Given the description of an element on the screen output the (x, y) to click on. 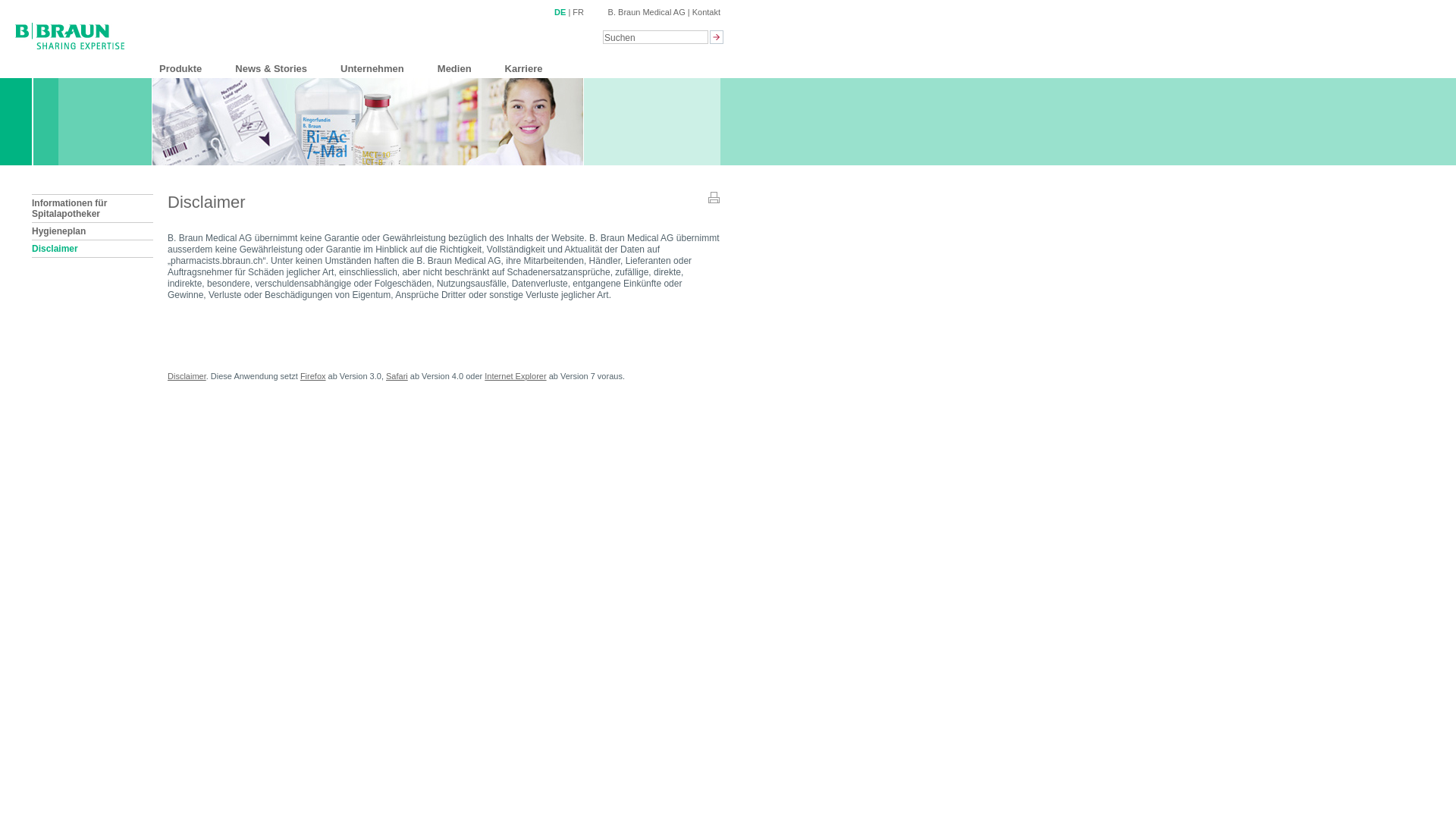
B. Braun Medical AG Element type: text (646, 11)
Firefox Element type: text (313, 375)
Medien Element type: text (454, 68)
Hygieneplan Element type: text (92, 230)
Kontakt Element type: text (706, 11)
Disclaimer Element type: text (186, 375)
News & Stories Element type: text (271, 68)
Safari Element type: text (396, 375)
Internet Explorer Element type: text (515, 375)
Disclaimer Element type: text (92, 248)
DE Element type: text (559, 11)
Produkte Element type: text (180, 68)
Unternehmen Element type: text (372, 68)
__LANG_PRINT__ Element type: hover (713, 199)
FR Element type: text (577, 11)
Karriere Element type: text (523, 68)
